Given the description of an element on the screen output the (x, y) to click on. 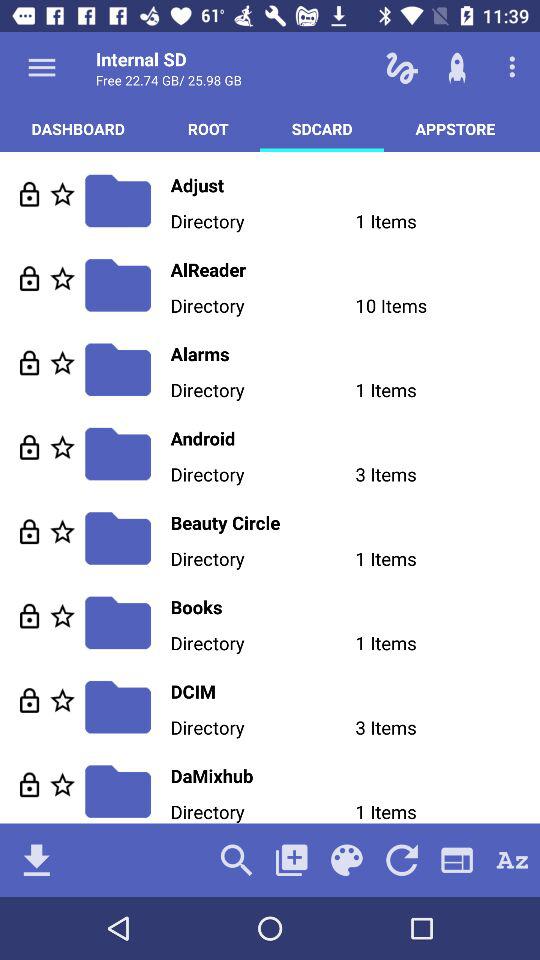
choose icon next to dashboard icon (208, 128)
